Given the description of an element on the screen output the (x, y) to click on. 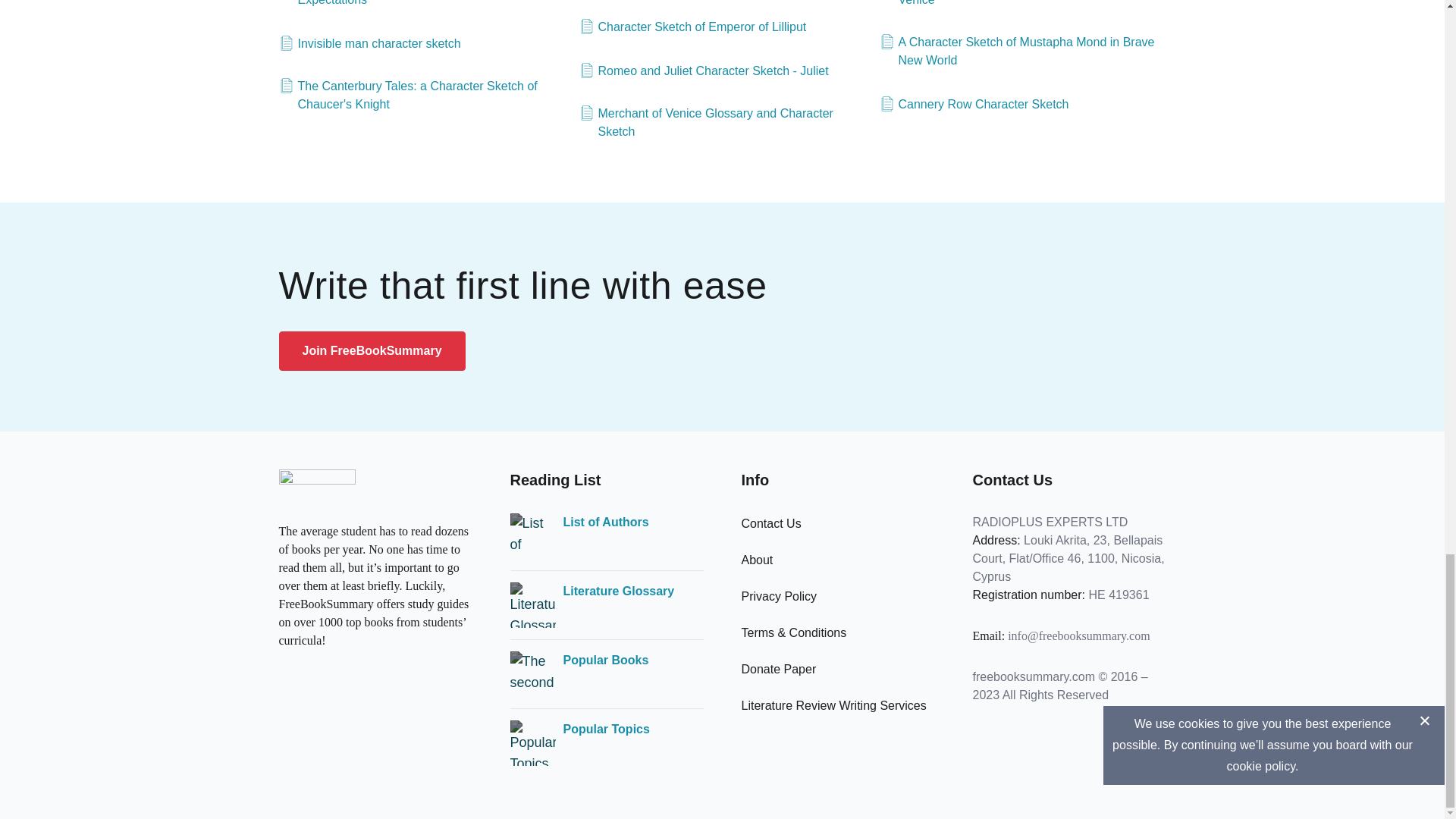
Character Sketch of Antonio in Merchant of Venice (1022, 4)
A Character Sketch of Mustapha Mond in Brave New World (1022, 51)
Cannery Row Character Sketch (973, 104)
Character Sketch of Emperor of Lilliput (692, 27)
Invisible man character sketch (370, 44)
The Canterbury Tales: a Character Sketch of Chaucer's Knight (422, 94)
A character sketch of Pip in Dicken's "Great Expectations" (422, 4)
Merchant of Venice Glossary and Character Sketch (722, 122)
Romeo and Juliet Character Sketch - Juliet (703, 71)
